Given the description of an element on the screen output the (x, y) to click on. 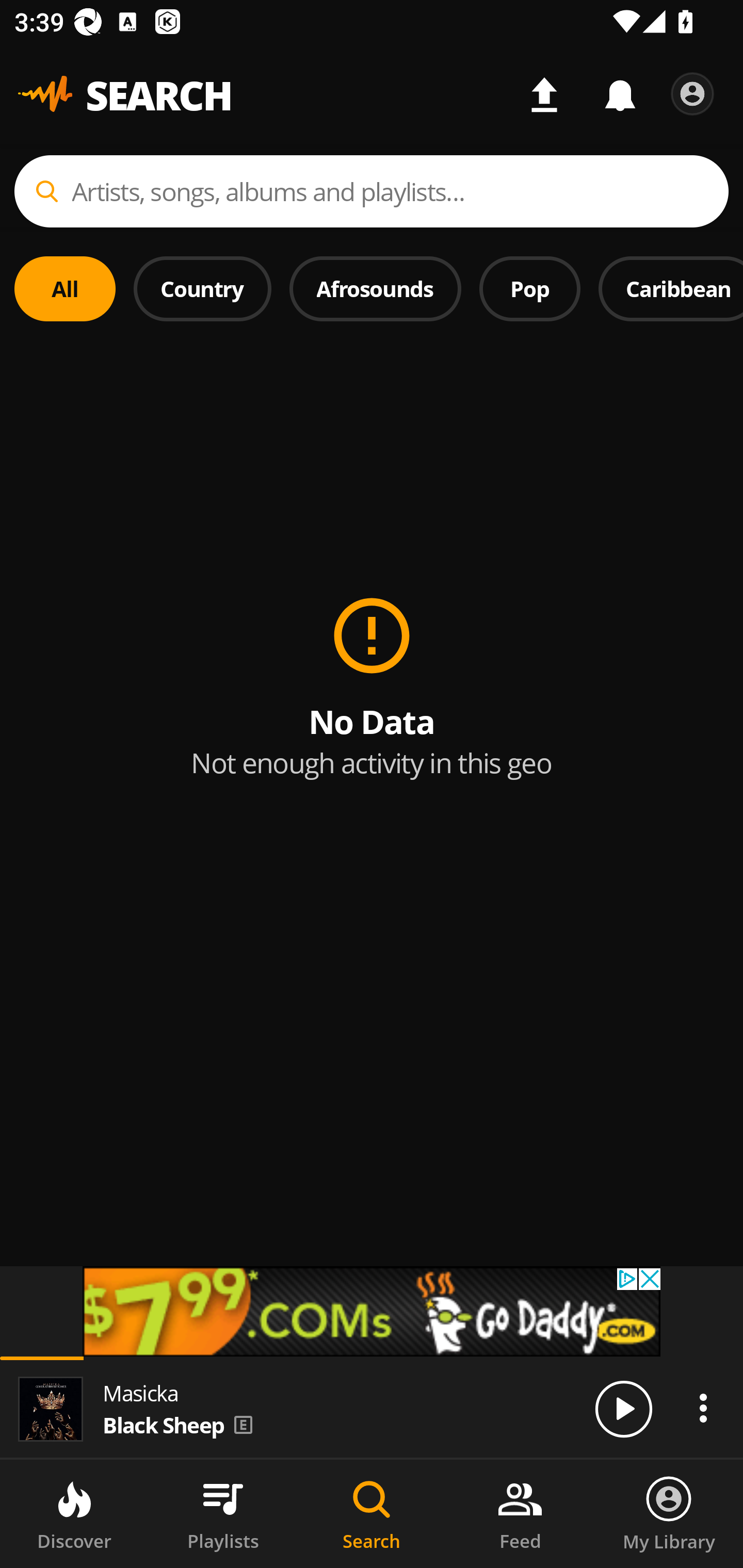
Settings (692, 94)
Artists, songs, albums and playlists… (371, 191)
All (64, 288)
Country (202, 288)
Afrosounds (375, 288)
Pop (529, 288)
Caribbean (670, 288)
492 (371, 1311)
Actions (703, 1407)
Play/Pause (623, 1408)
Discover (74, 1513)
Playlists (222, 1513)
Search (371, 1513)
Feed (519, 1513)
My Library (668, 1513)
